Given the description of an element on the screen output the (x, y) to click on. 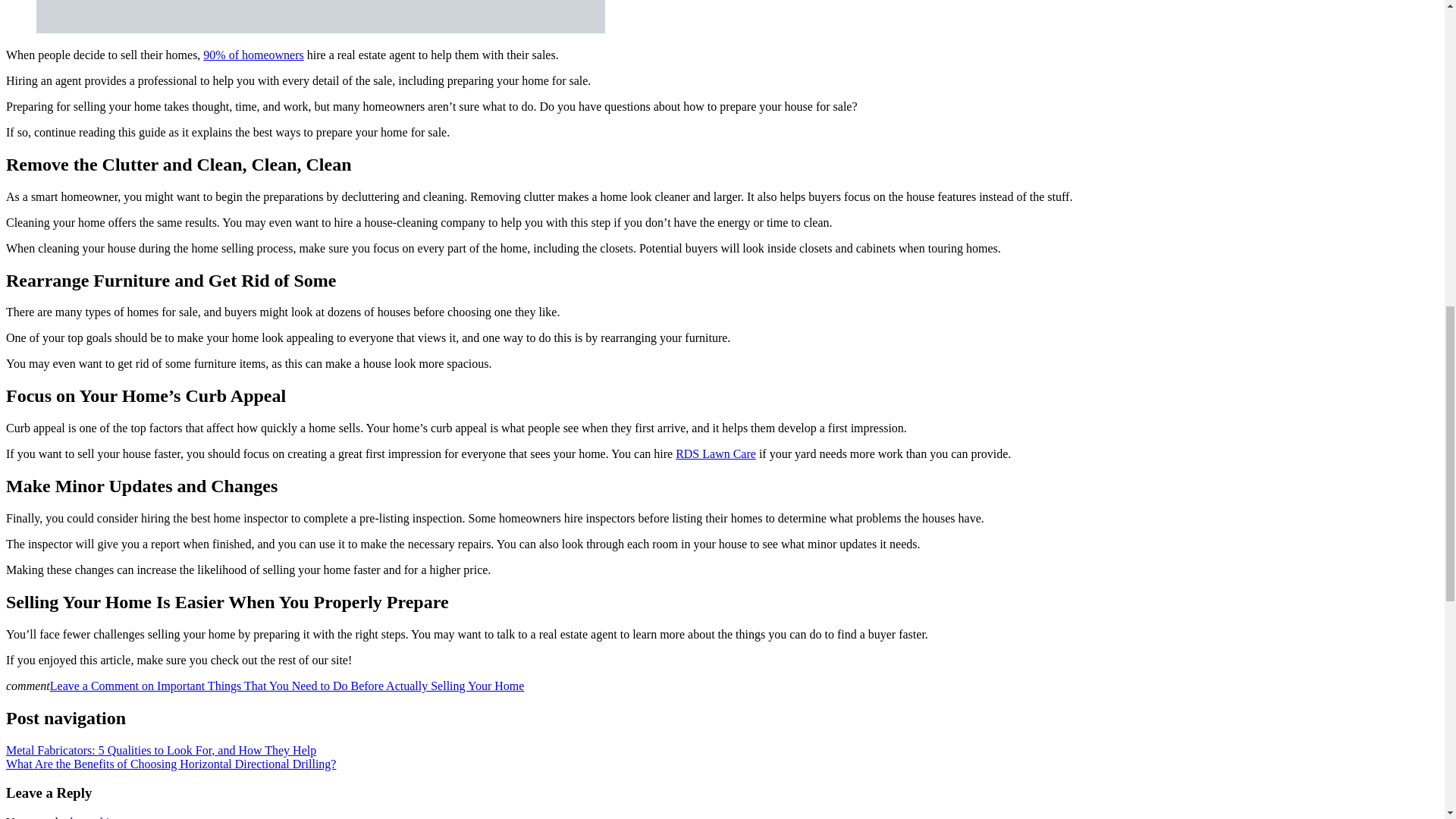
RDS Lawn Care (715, 453)
logged in (92, 817)
